Given the description of an element on the screen output the (x, y) to click on. 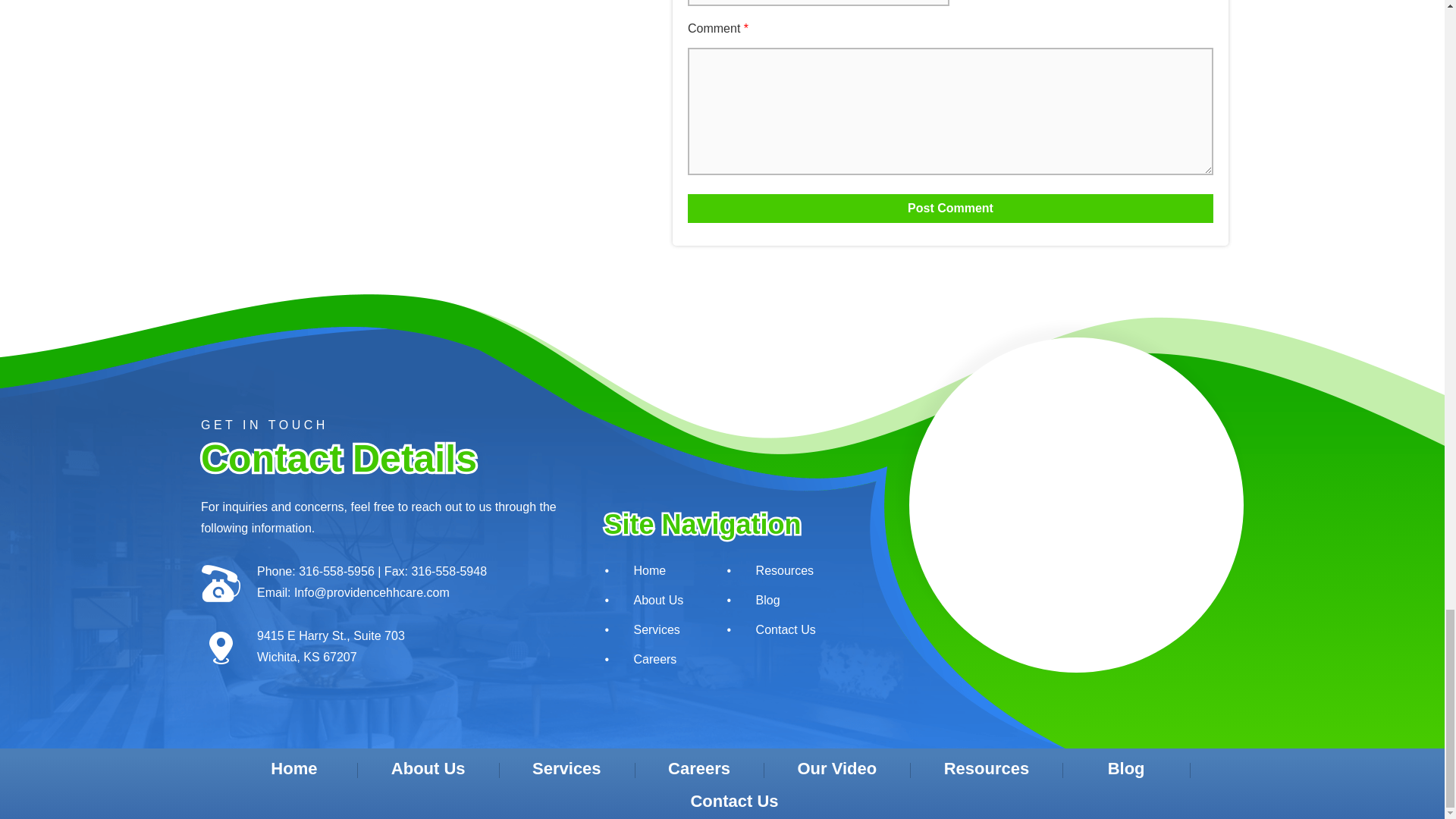
Post Comment (949, 208)
About Us (648, 600)
Post Comment (949, 208)
Contact Details (378, 458)
Site Navigation (709, 524)
Home (648, 569)
Services (648, 628)
